Given the description of an element on the screen output the (x, y) to click on. 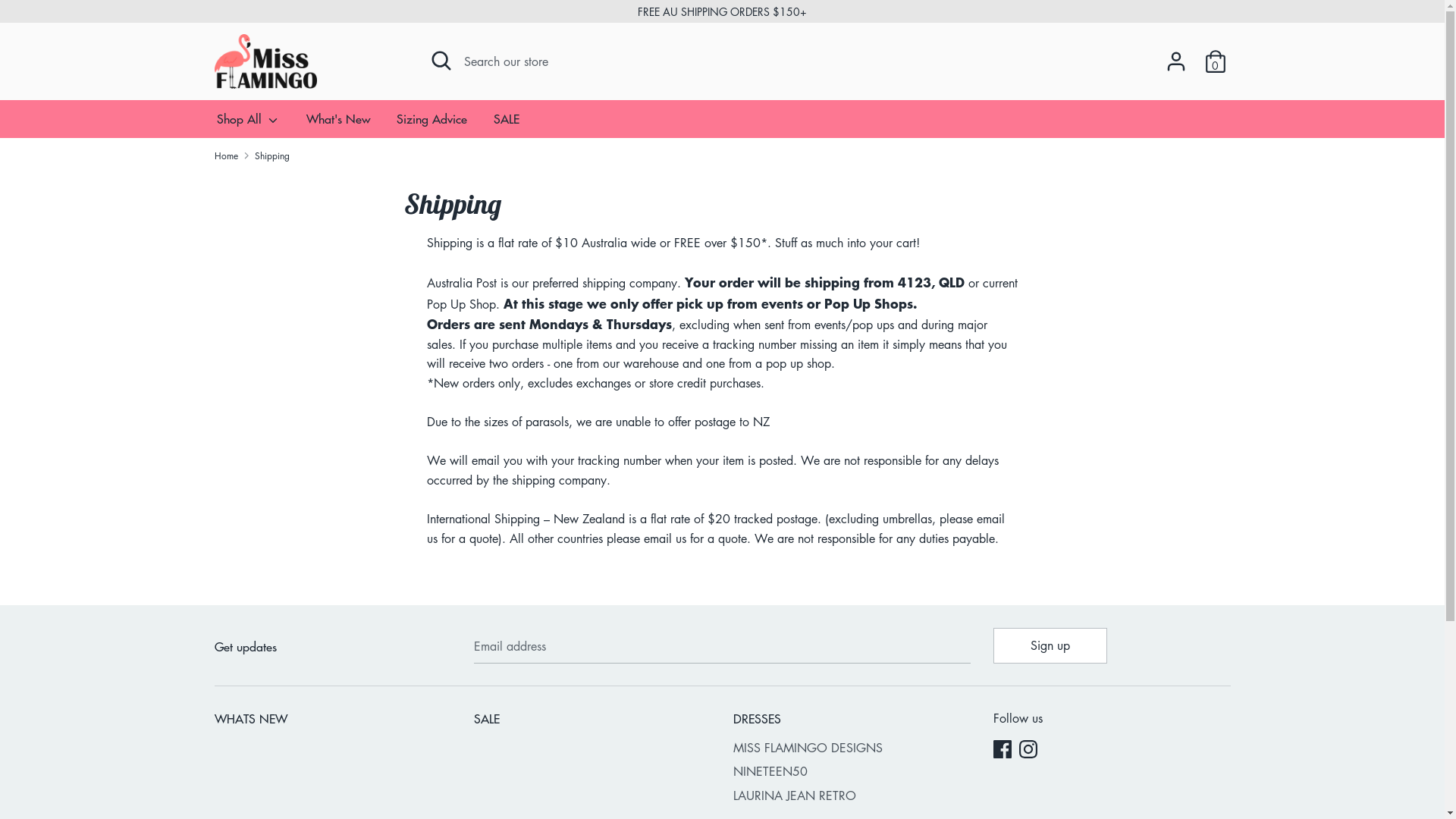
DRESSES Element type: text (851, 720)
Shop All Element type: text (247, 123)
SALE Element type: text (591, 720)
MISS FLAMINGO DESIGNS Element type: text (851, 748)
SALE Element type: text (506, 123)
What's New Element type: text (337, 123)
Shipping Element type: text (271, 155)
Sizing Advice Element type: text (431, 123)
LAURINA JEAN RETRO Element type: text (851, 796)
0 Element type: text (1214, 55)
Facebook Element type: hover (1003, 750)
Home Element type: text (225, 155)
Instagram Element type: hover (1029, 750)
NINETEEN50 Element type: text (851, 771)
WHATS NEW Element type: text (331, 720)
Sign up Element type: text (1050, 645)
